Given the description of an element on the screen output the (x, y) to click on. 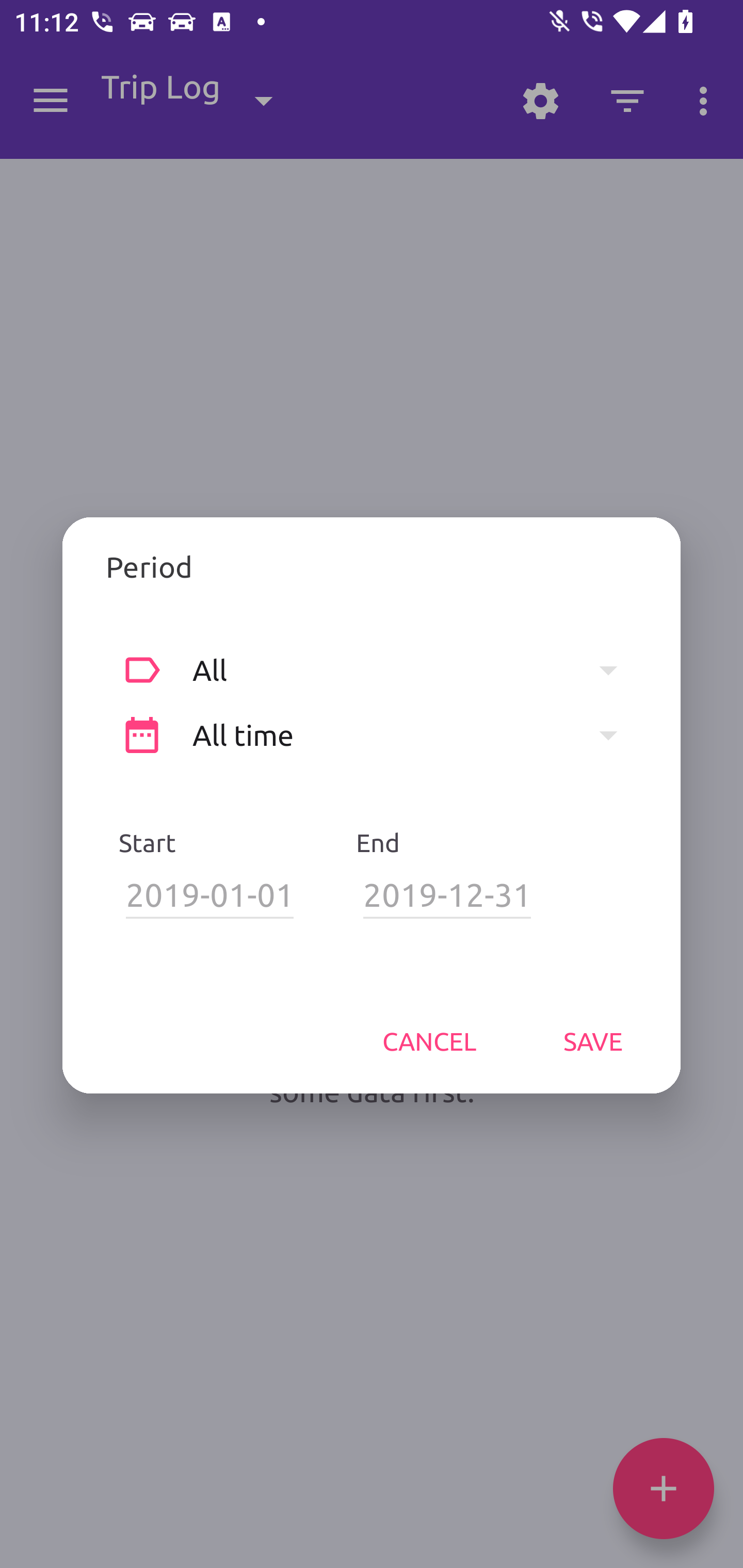
All (414, 669)
All time (414, 735)
2019-01-01 (209, 894)
2019-12-31 (446, 894)
CANCEL (429, 1040)
SAVE (593, 1040)
